Given the description of an element on the screen output the (x, y) to click on. 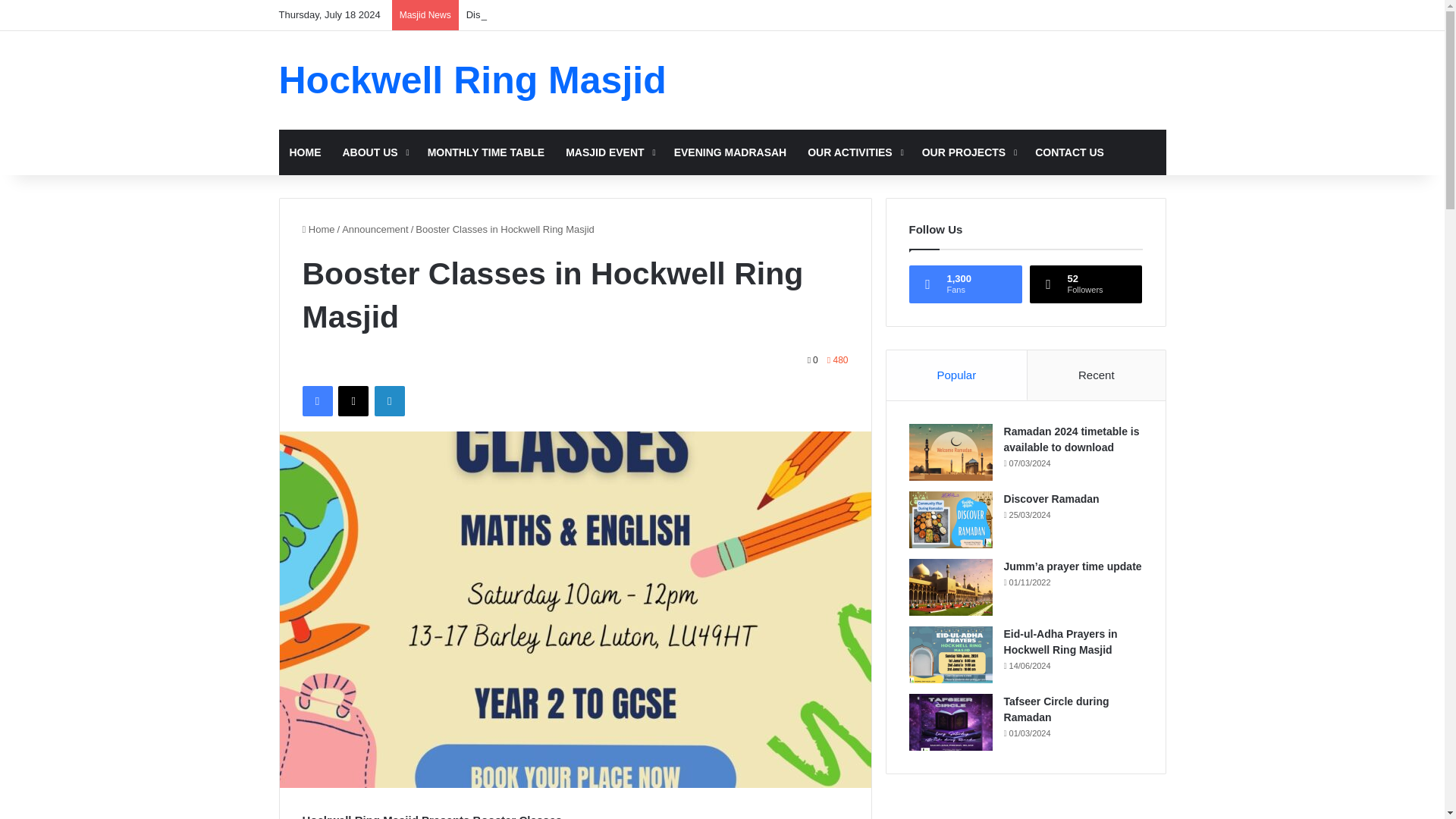
X (352, 400)
HOME (305, 152)
OUR ACTIVITIES (853, 152)
MONTHLY TIME TABLE (486, 152)
X (352, 400)
Home (317, 229)
CONTACT US (1070, 152)
EVENING MADRASAH (730, 152)
Hockwell Ring Masjid (472, 80)
Hockwell Ring Masjid (472, 80)
ABOUT US (373, 152)
Facebook (316, 400)
OUR PROJECTS (968, 152)
LinkedIn (389, 400)
LinkedIn (389, 400)
